Given the description of an element on the screen output the (x, y) to click on. 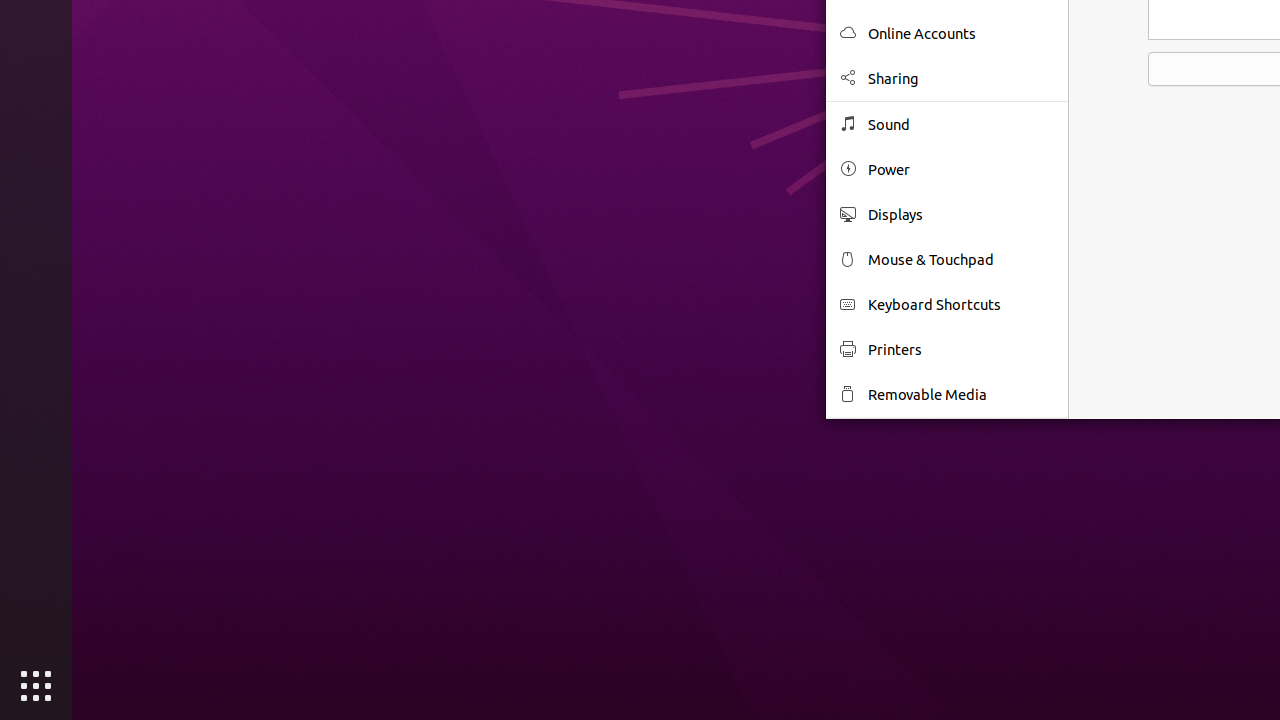
Show Applications Element type: toggle-button (36, 686)
